Given the description of an element on the screen output the (x, y) to click on. 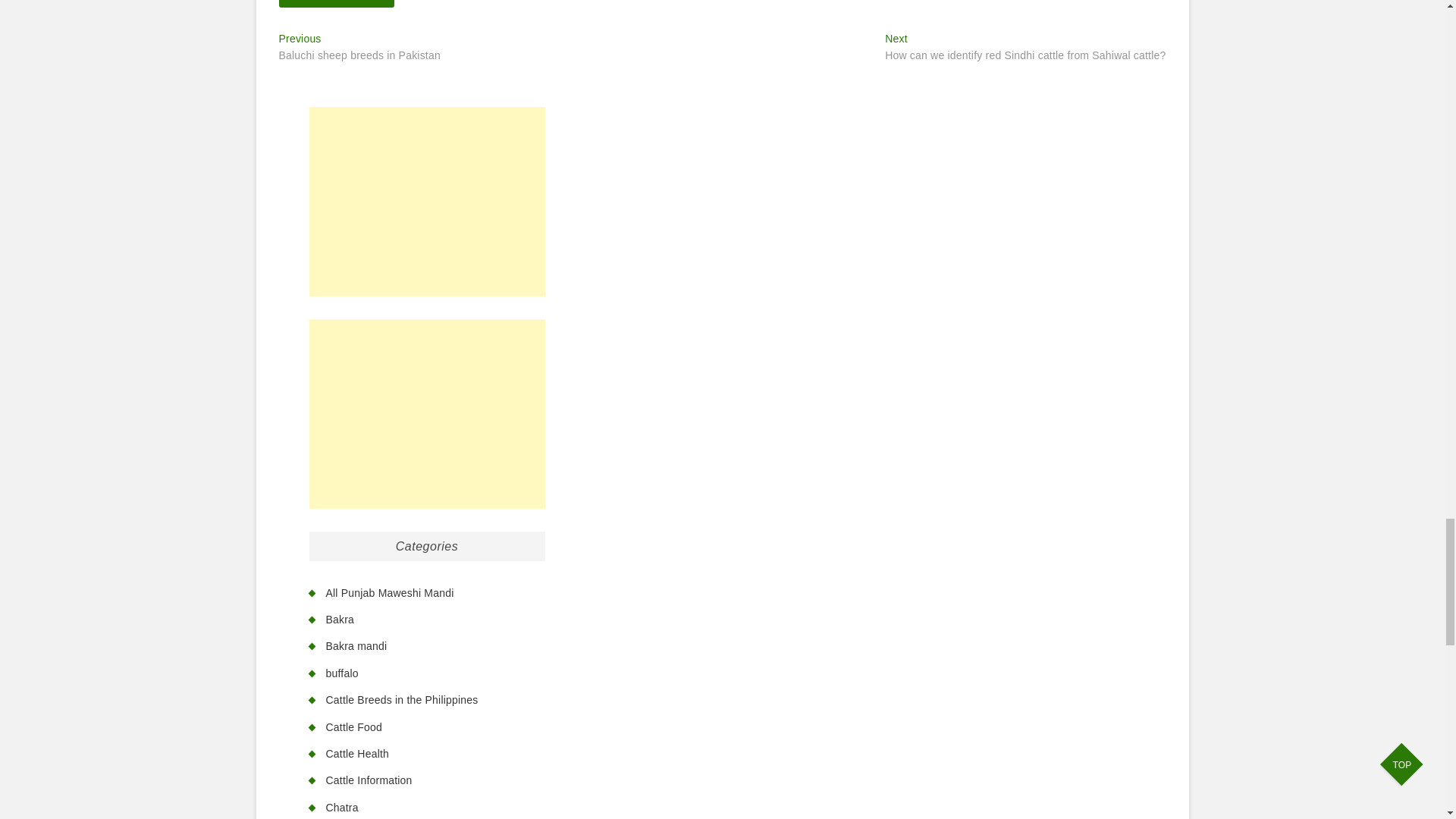
Cattle Food (354, 727)
Bakra mandi (356, 645)
Post Comment (336, 3)
All Punjab Maweshi Mandi (390, 592)
Post Comment (336, 3)
Cattle Breeds in the Philippines (402, 699)
Cattle Health (360, 48)
Bakra (358, 753)
